Given the description of an element on the screen output the (x, y) to click on. 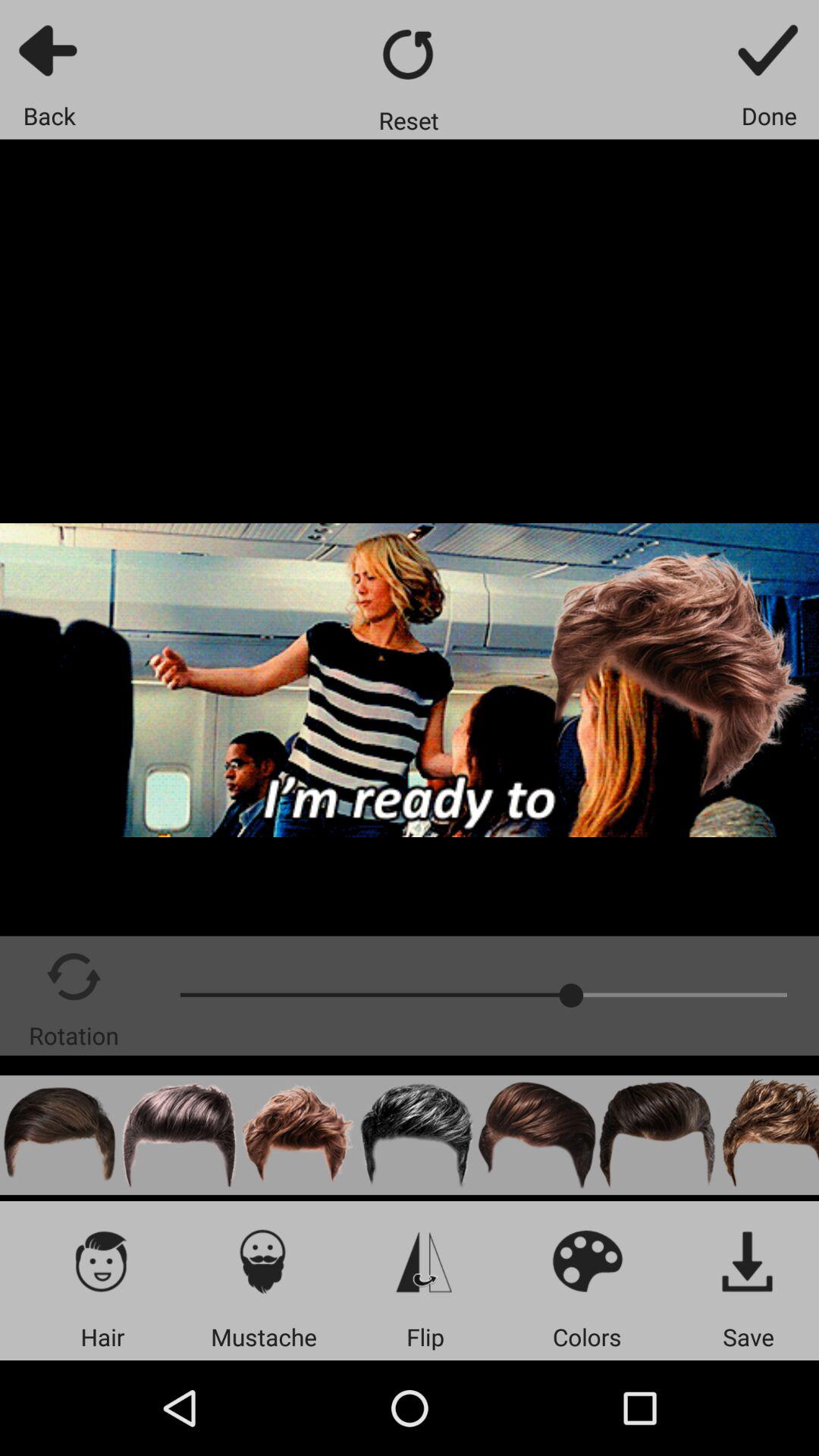
change hair style (767, 1134)
